Given the description of an element on the screen output the (x, y) to click on. 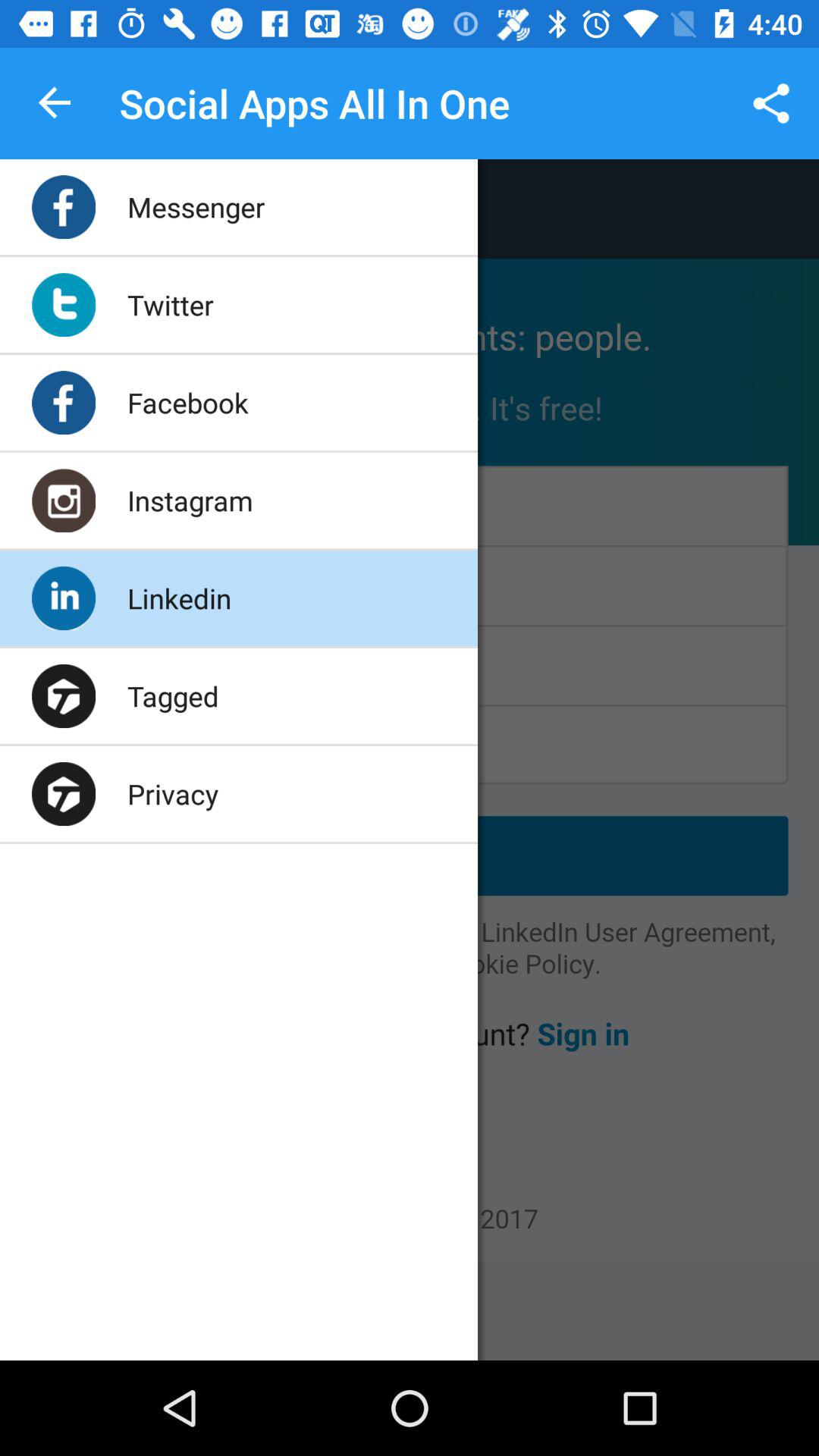
jump until the privacy (172, 793)
